Given the description of an element on the screen output the (x, y) to click on. 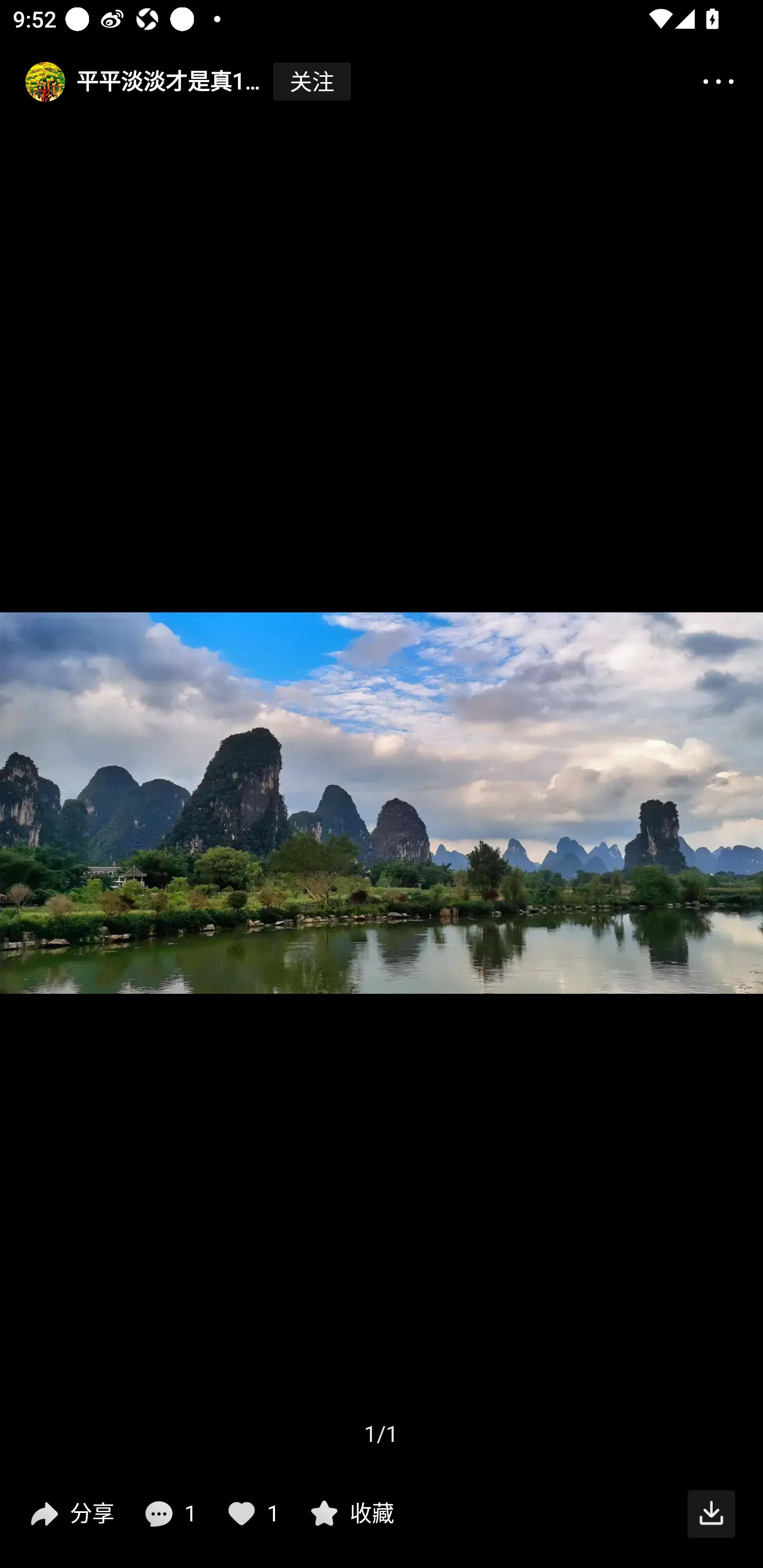
平平淡淡才是真1… 关注 关注 (175, 81)
关注 (311, 81)
分享 (69, 1513)
评论,1 1 (167, 1513)
,收藏 收藏 (349, 1513)
